Given the description of an element on the screen output the (x, y) to click on. 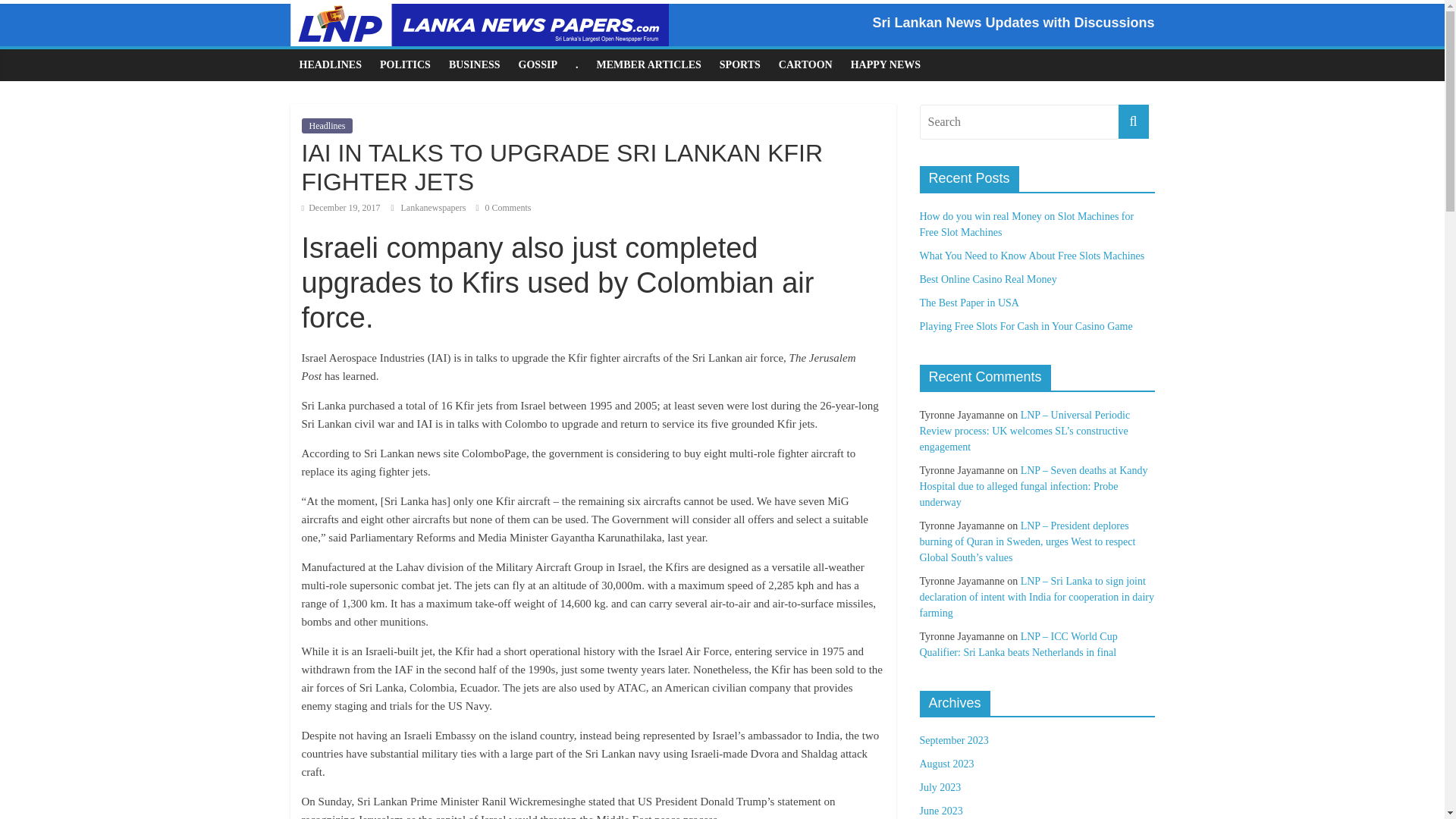
POLITICS (405, 65)
GOSSIP (537, 65)
December 19, 2017 (340, 207)
Best Online Casino Real Money (987, 279)
August 2023 (946, 763)
The Best Paper in USA (967, 302)
Headlines (327, 125)
Lankanewspapers (433, 207)
SPORTS (740, 65)
